Given the description of an element on the screen output the (x, y) to click on. 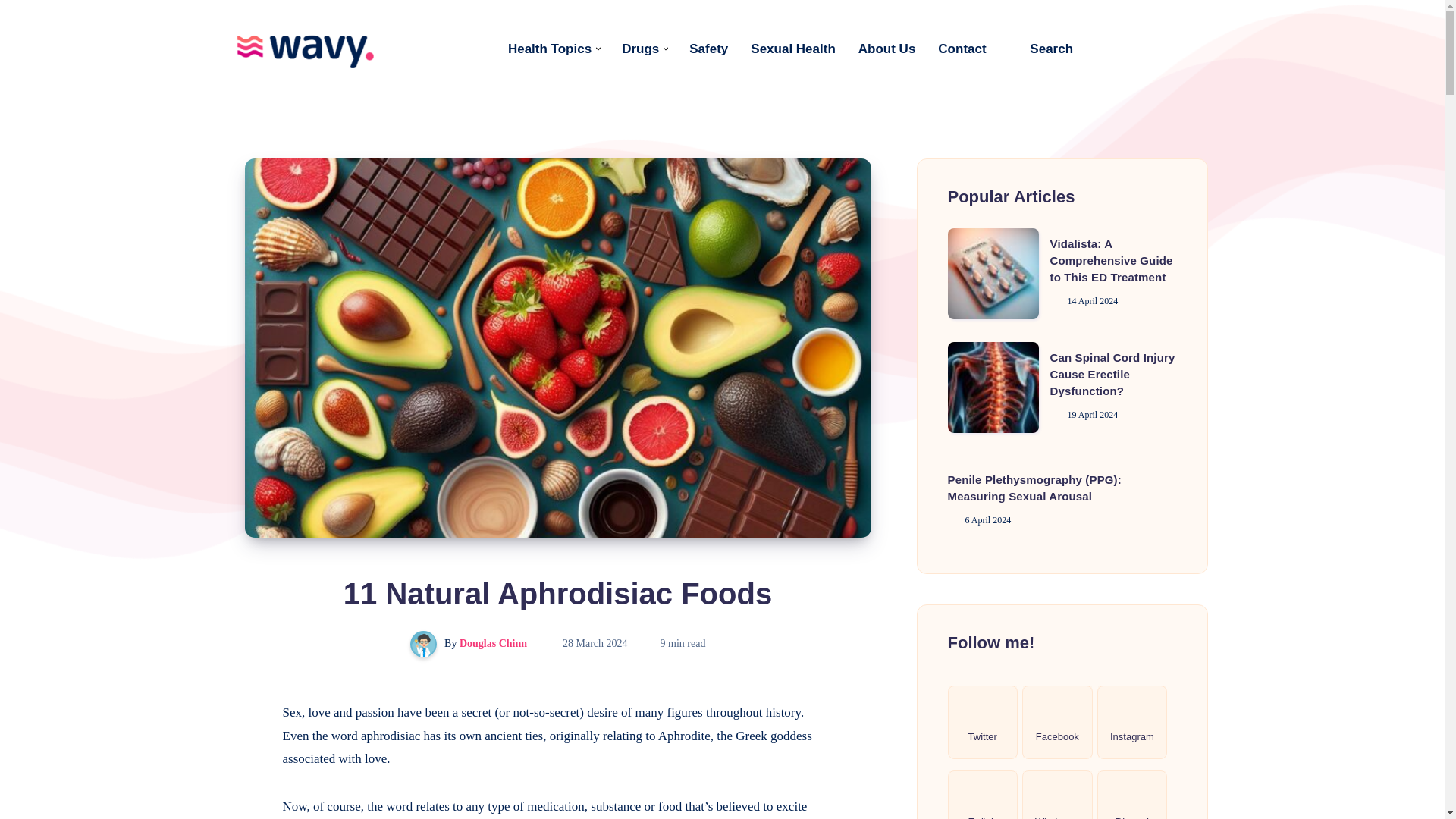
About Us (887, 48)
Health Topics (549, 48)
Share on Facebook (244, 712)
Share on Telegram (244, 809)
By Douglas Chinn (469, 643)
Sexual Health (793, 48)
Drugs (640, 48)
Contact (961, 48)
Share on Twitter (244, 747)
Safety (708, 48)
